Given the description of an element on the screen output the (x, y) to click on. 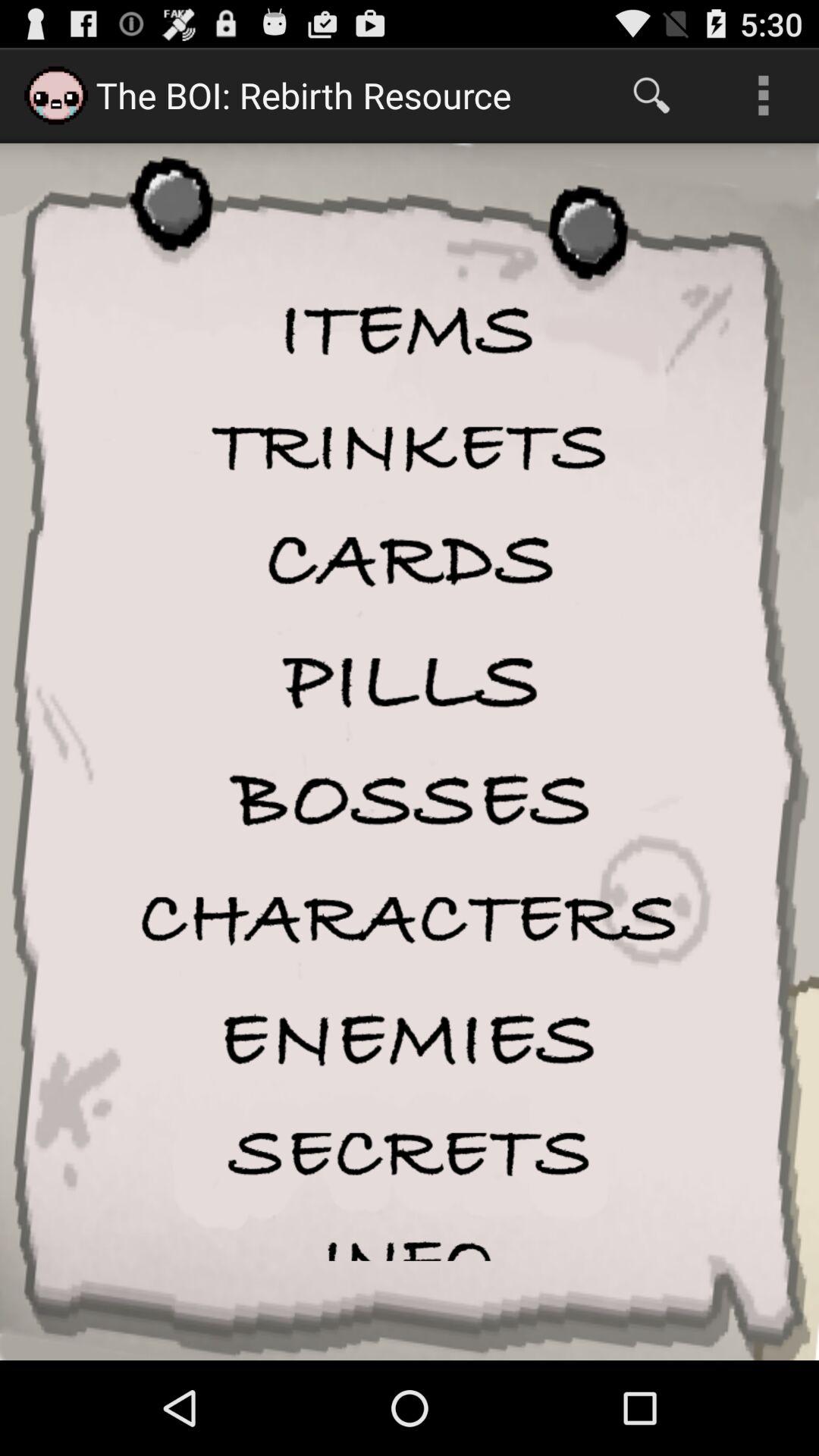
go to characters page (409, 919)
